Given the description of an element on the screen output the (x, y) to click on. 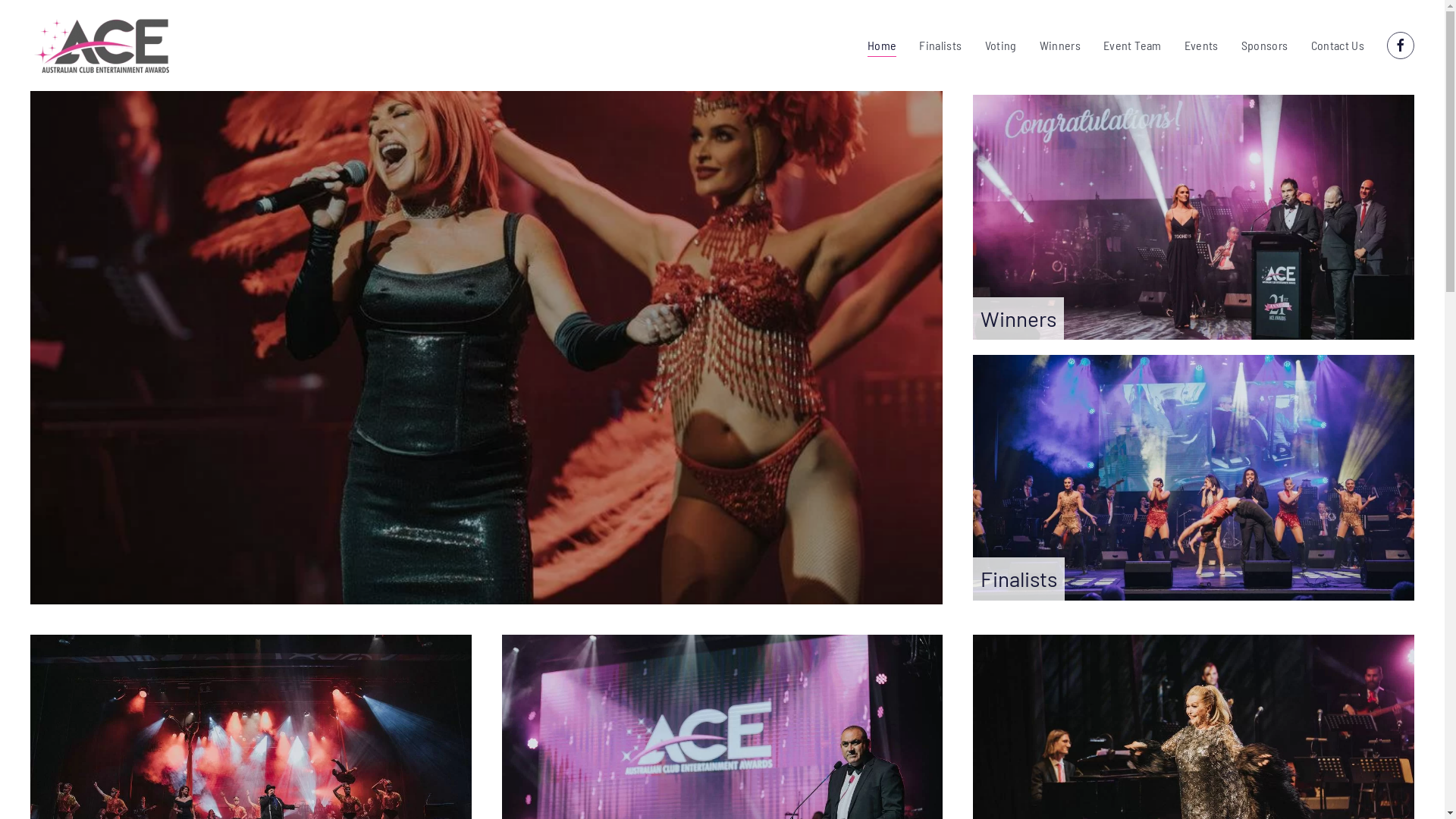
Home Element type: text (881, 45)
Finalists Element type: text (1193, 476)
Sponsors Element type: text (1264, 45)
Winners Element type: text (1193, 216)
Voting Element type: text (1000, 45)
Events Element type: text (1201, 45)
Event Team Element type: text (1132, 45)
Finalists Element type: text (939, 45)
Winners Element type: text (1060, 45)
Contact Us Element type: text (1337, 45)
